Given the description of an element on the screen output the (x, y) to click on. 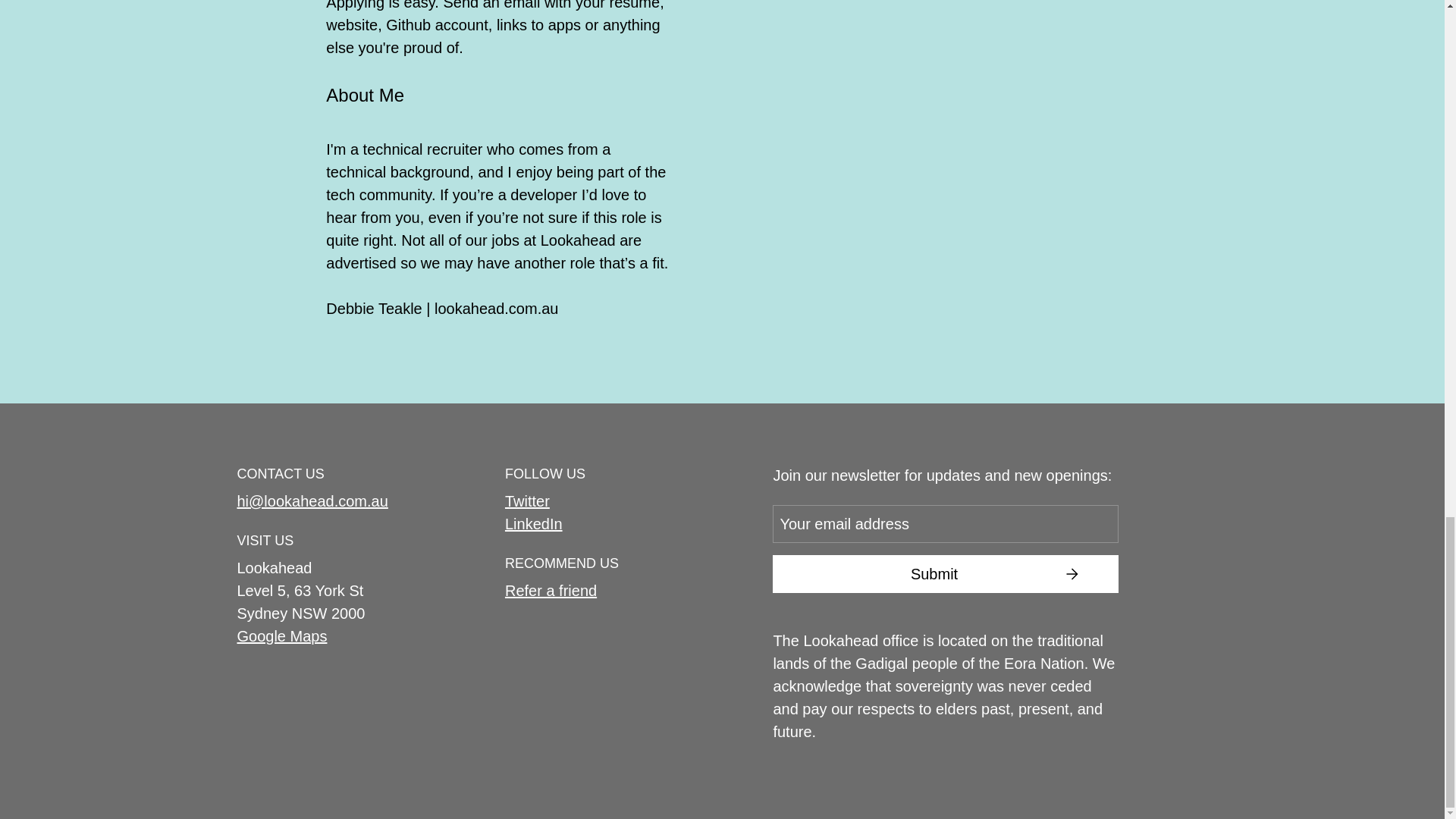
Twitter (527, 500)
Submit (945, 573)
Google Maps (280, 635)
Refer a friend (550, 590)
LinkedIn (533, 523)
Submit (945, 573)
